Given the description of an element on the screen output the (x, y) to click on. 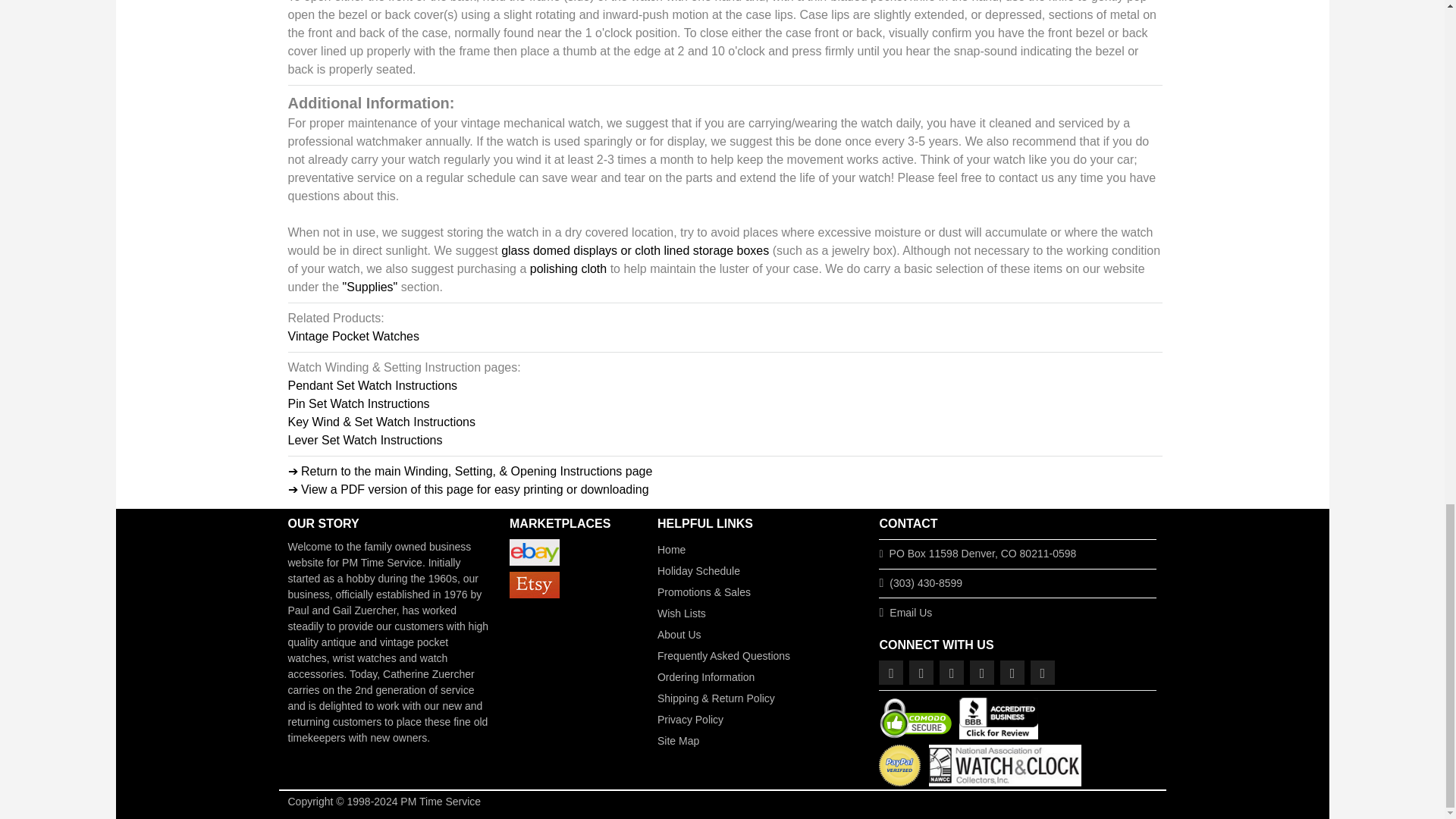
YouTube (1042, 672)
Instagram (920, 672)
PM Time Service Etsy Shop (534, 584)
Threads (981, 672)
Facebook (890, 672)
PMTime Service is Verified by PayPal (899, 762)
PM Time Service eBay Store (534, 551)
Click for the Business Review of PM Time Service (998, 717)
Pinterest (1012, 672)
